Given the description of an element on the screen output the (x, y) to click on. 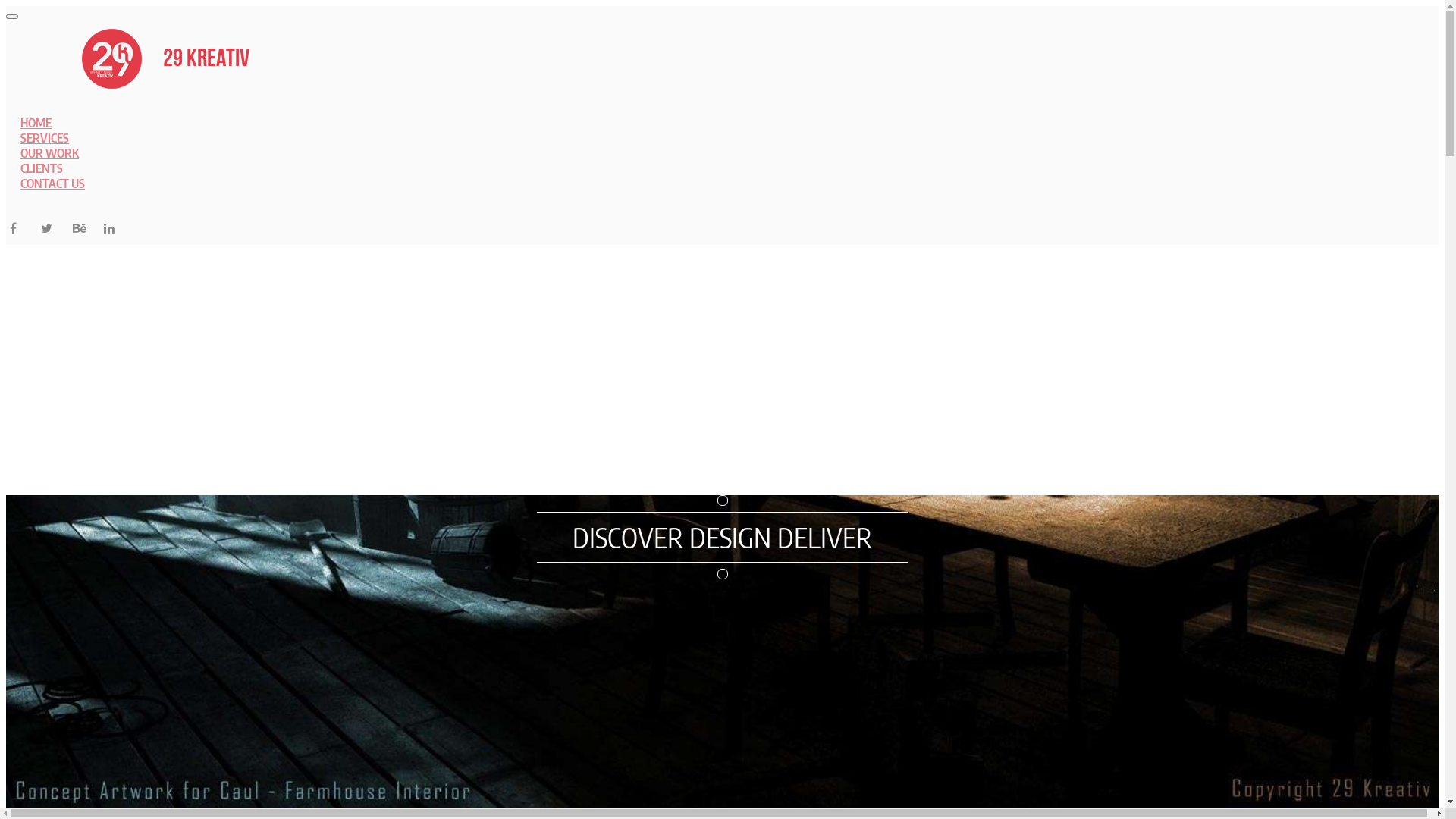
Toggle navigation Element type: text (12, 16)
SERVICES Element type: text (44, 137)
HOME Element type: text (35, 122)
CLIENTS Element type: text (41, 167)
CONTACT US Element type: text (52, 183)
OUR WORK Element type: text (49, 152)
